Given the description of an element on the screen output the (x, y) to click on. 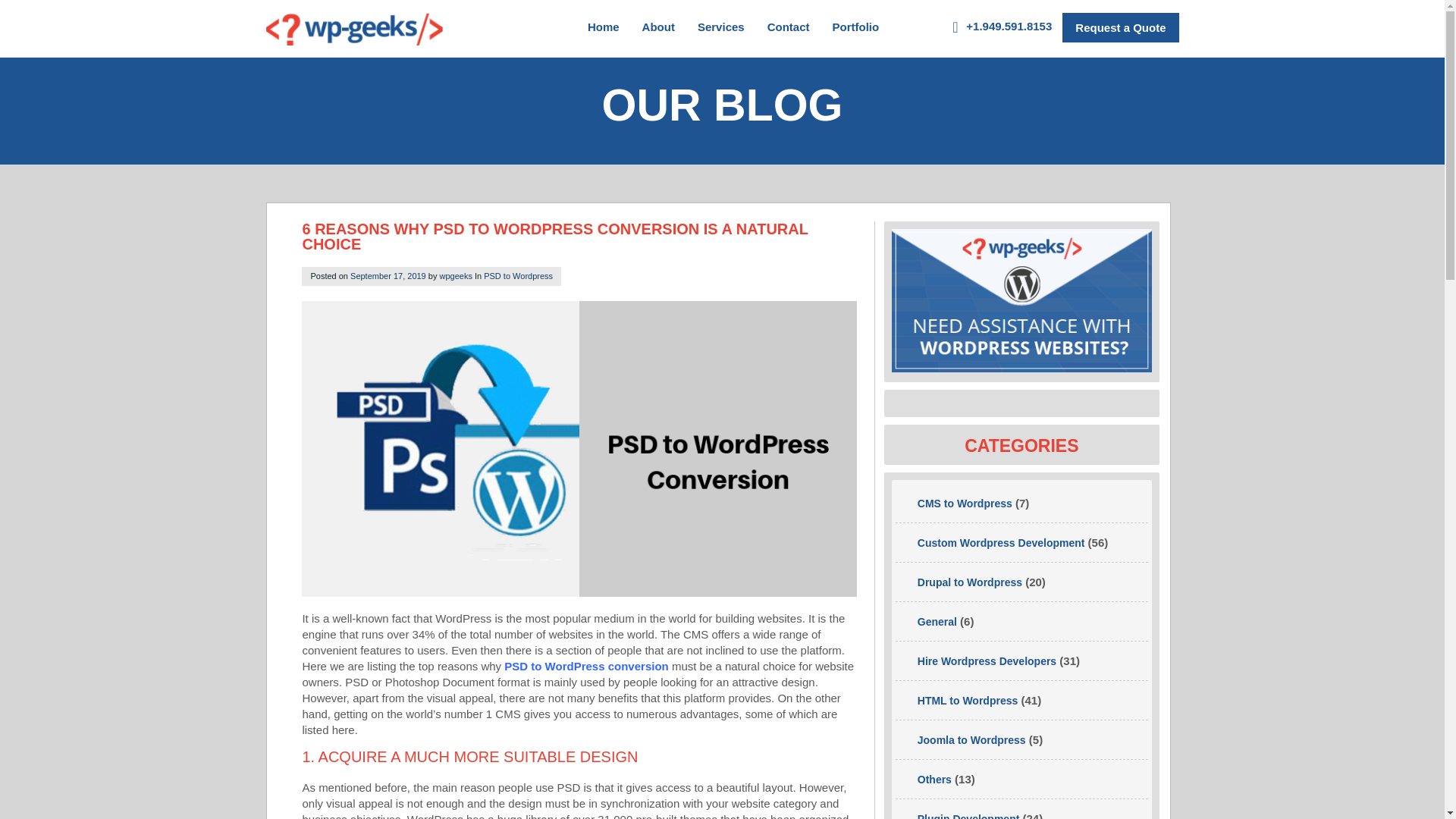
Services (720, 30)
Portfolio (855, 30)
View all posts in PSD to Wordpress (518, 275)
Contact (788, 30)
Go To Homepage (353, 29)
Home (604, 30)
PSD to WordPress conversion (585, 666)
PSD to Wordpress (518, 275)
wpgeeks (455, 275)
About (658, 30)
Request a Quote (1119, 27)
September 17, 2019 (388, 275)
